Given the description of an element on the screen output the (x, y) to click on. 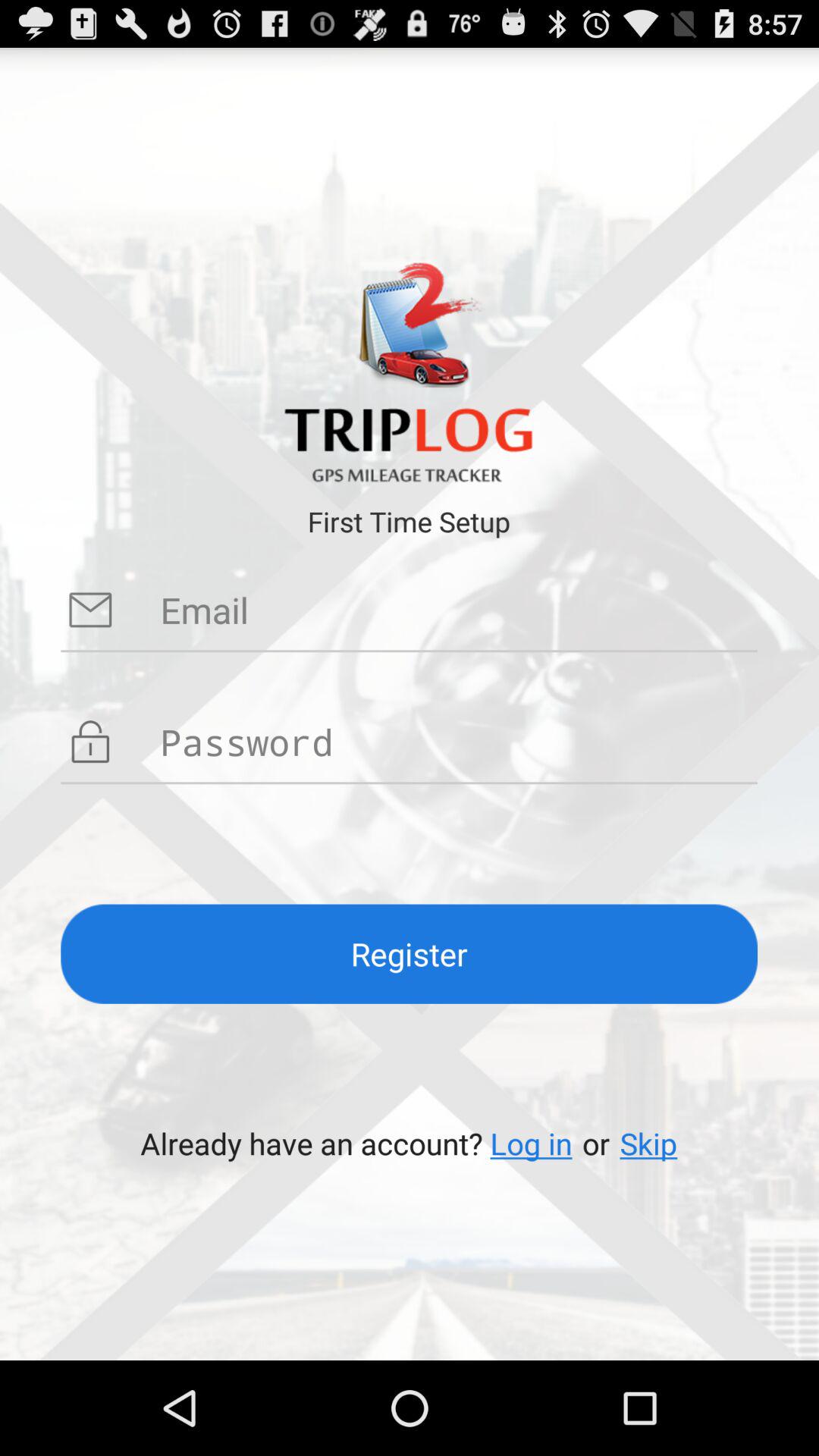
type password (458, 741)
